Given the description of an element on the screen output the (x, y) to click on. 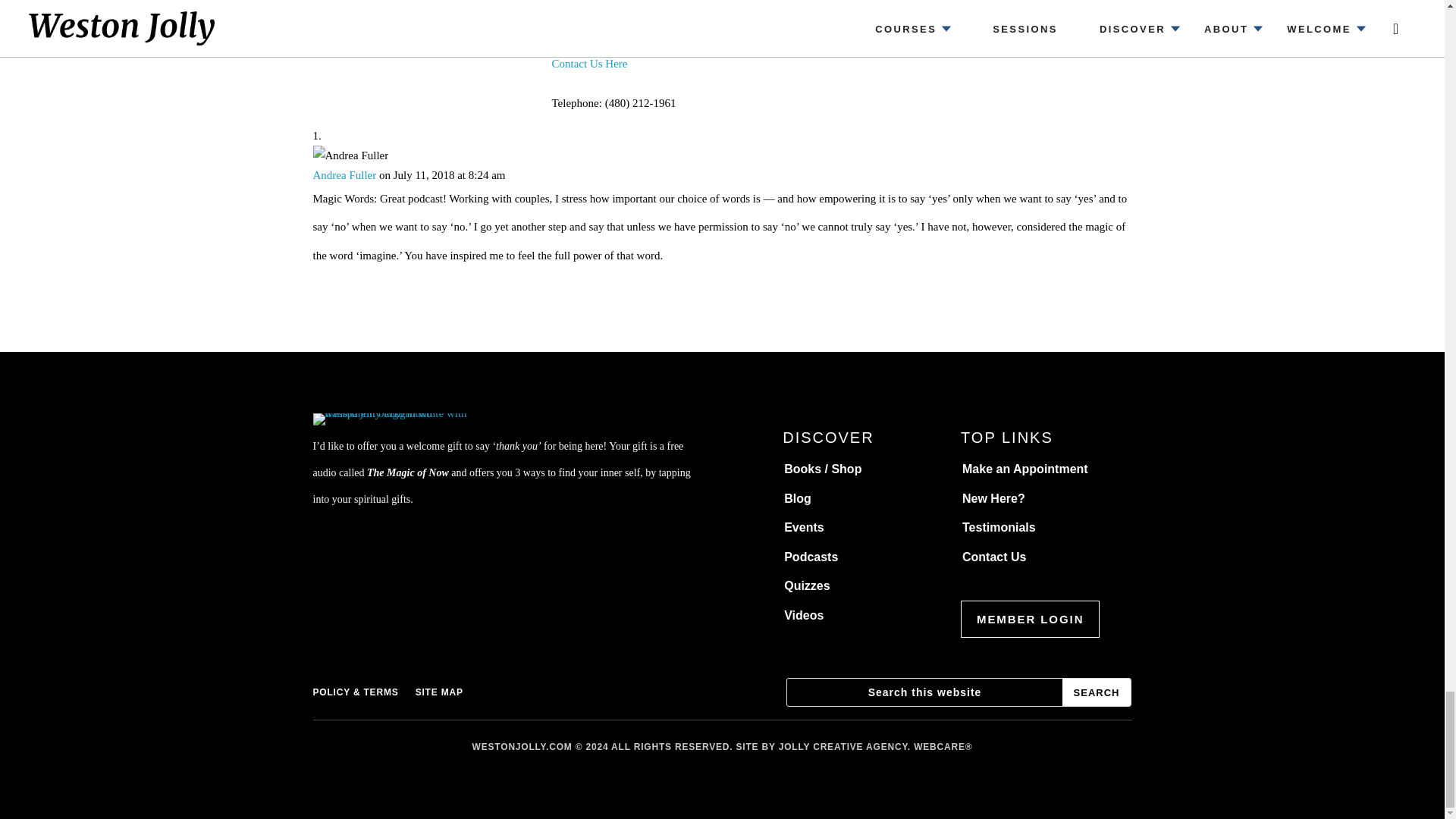
Weston-Jolly-logo-white (409, 419)
Search (1096, 691)
Search (1096, 691)
